Given the description of an element on the screen output the (x, y) to click on. 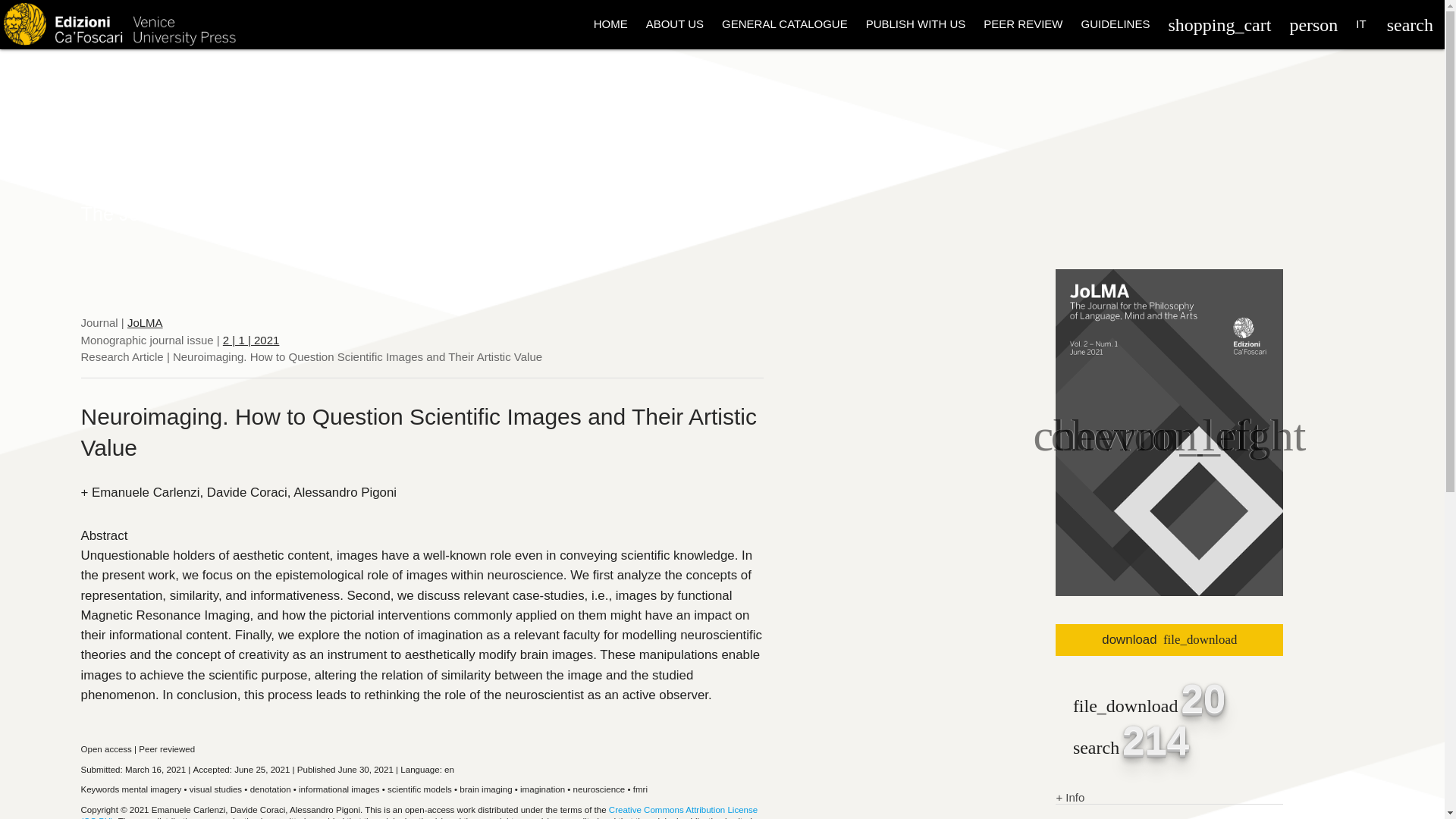
fmri (640, 788)
imagination (541, 788)
JoLMA (145, 322)
scientific models (419, 788)
Peer reviewed (166, 748)
GUIDELINES (1114, 24)
visual studies (215, 788)
GENERAL CATALOGUE (785, 24)
denotation (270, 788)
HOME (611, 24)
search (1409, 24)
brain imaging (486, 788)
Open access (105, 748)
mental imagery (150, 788)
person (1312, 24)
